Given the description of an element on the screen output the (x, y) to click on. 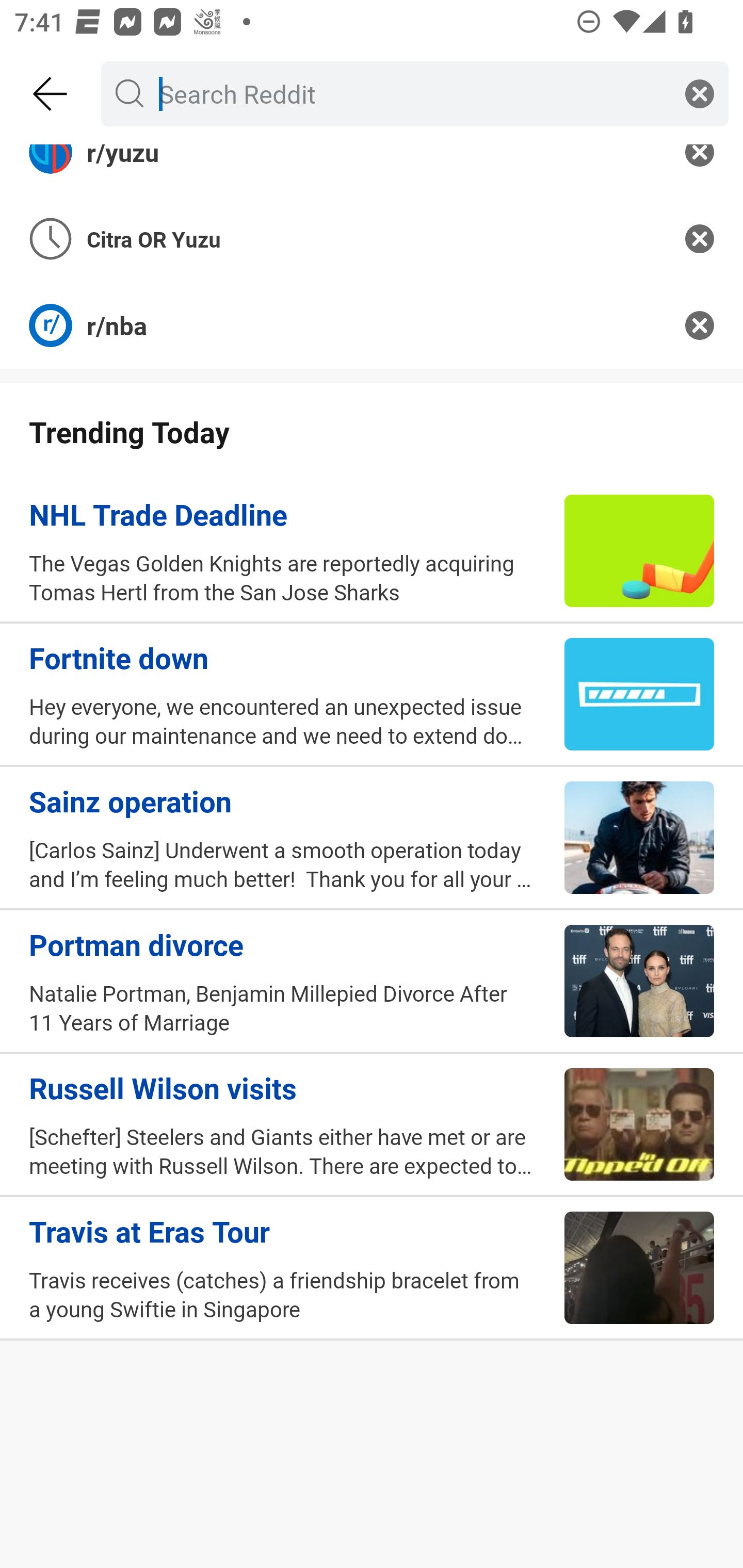
Back (50, 93)
Search Reddit (410, 93)
Clear search (699, 93)
r/yuzu Recent search: r/yuzu Remove (371, 170)
Remove (699, 170)
Citra OR Yuzu Recent search: Citra OR Yuzu Remove (371, 239)
Remove (699, 239)
r/nba Recent search: r/nba Remove (371, 325)
Remove (699, 325)
